Given the description of an element on the screen output the (x, y) to click on. 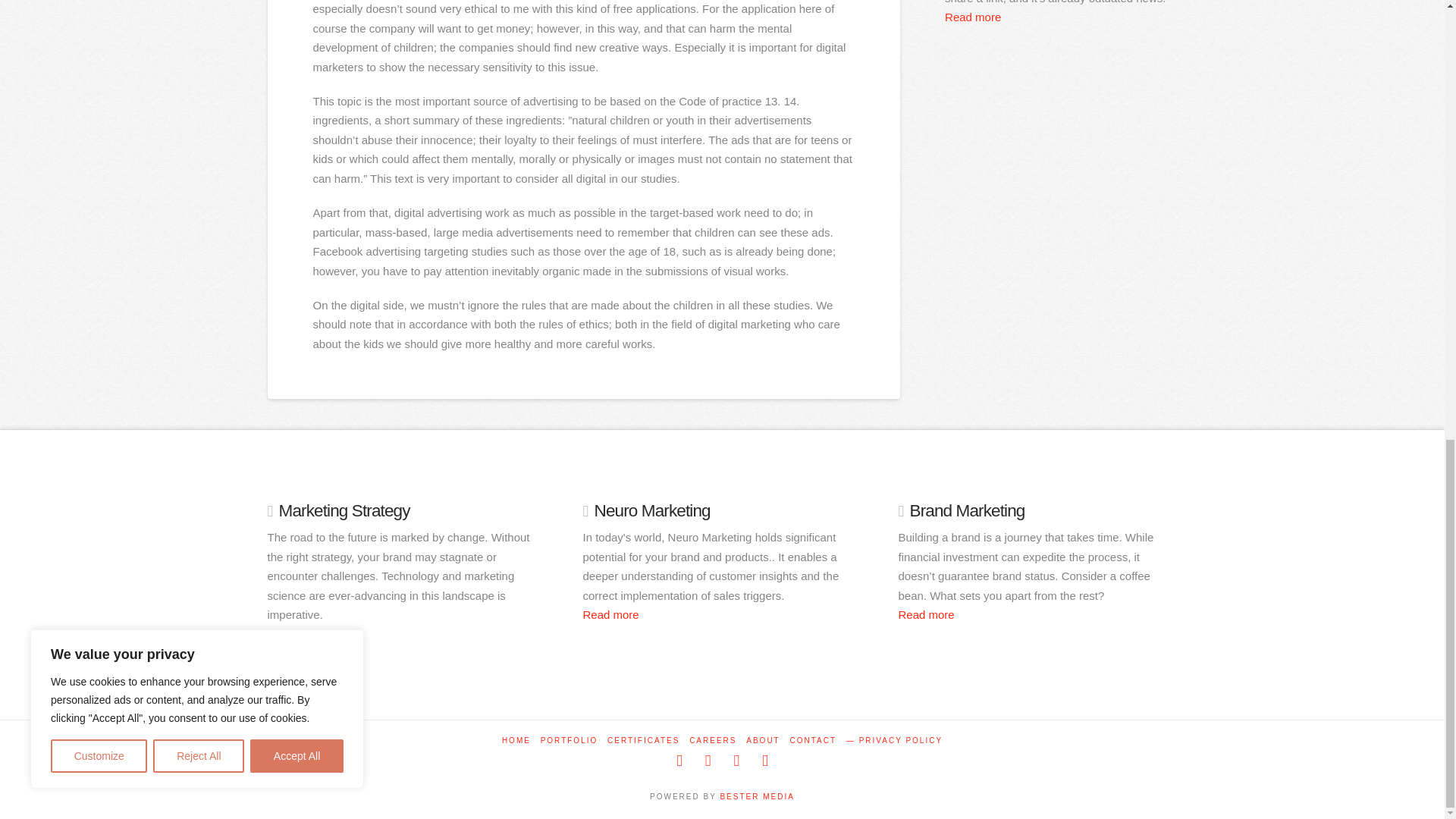
Bester Media website (756, 796)
